Given the description of an element on the screen output the (x, y) to click on. 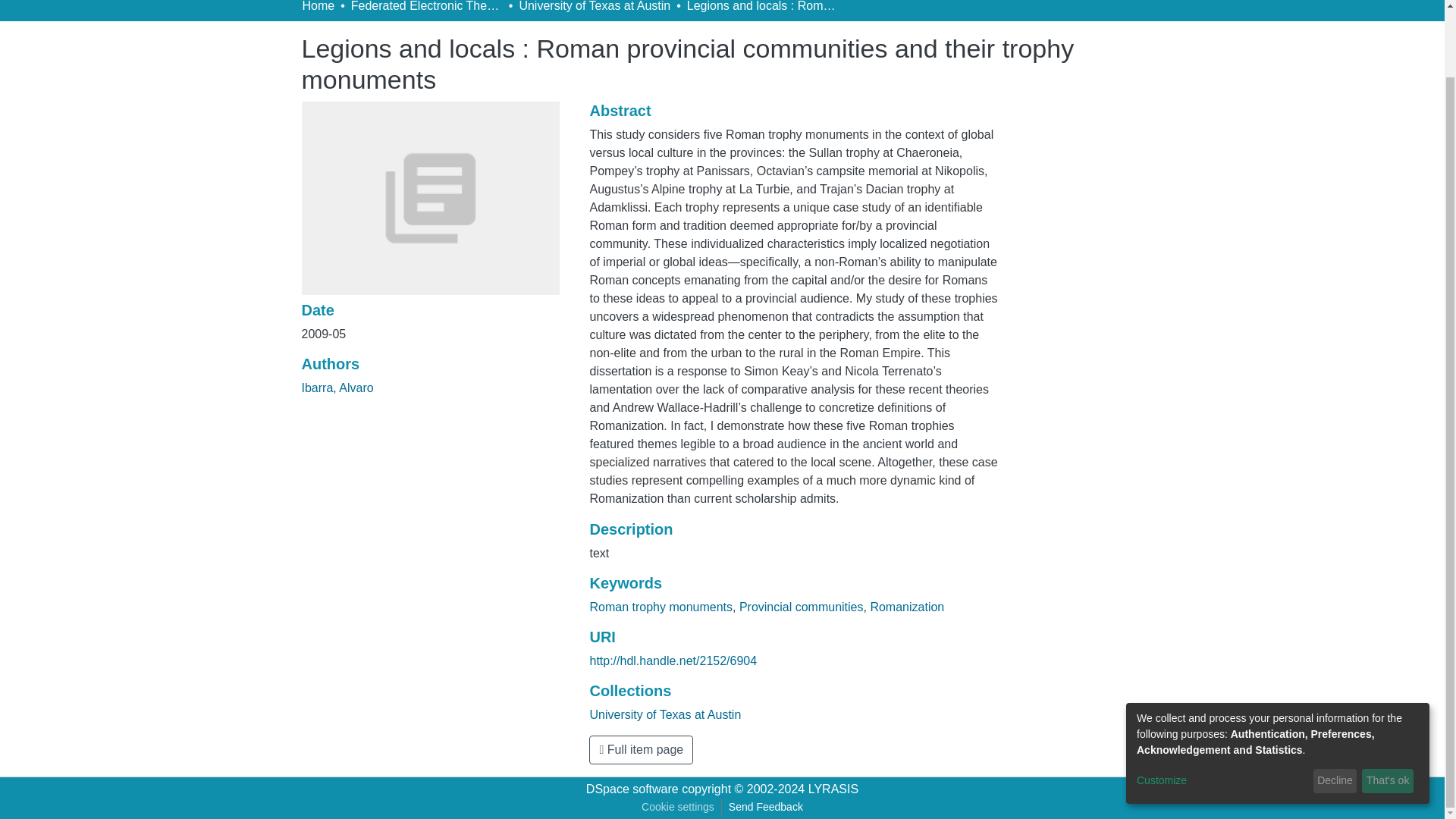
Full item page (641, 749)
Cookie settings (677, 806)
Customize (1222, 706)
Roman trophy monuments (660, 606)
That's ok (1387, 707)
DSpace software (632, 788)
Send Feedback (765, 806)
Provincial communities (801, 606)
University of Texas at Austin (665, 714)
University of Texas at Austin (593, 7)
Home (317, 7)
Federated Electronic Theses and Dissertations (426, 7)
LYRASIS (833, 788)
Decline (1334, 707)
Ibarra, Alvaro (337, 387)
